Given the description of an element on the screen output the (x, y) to click on. 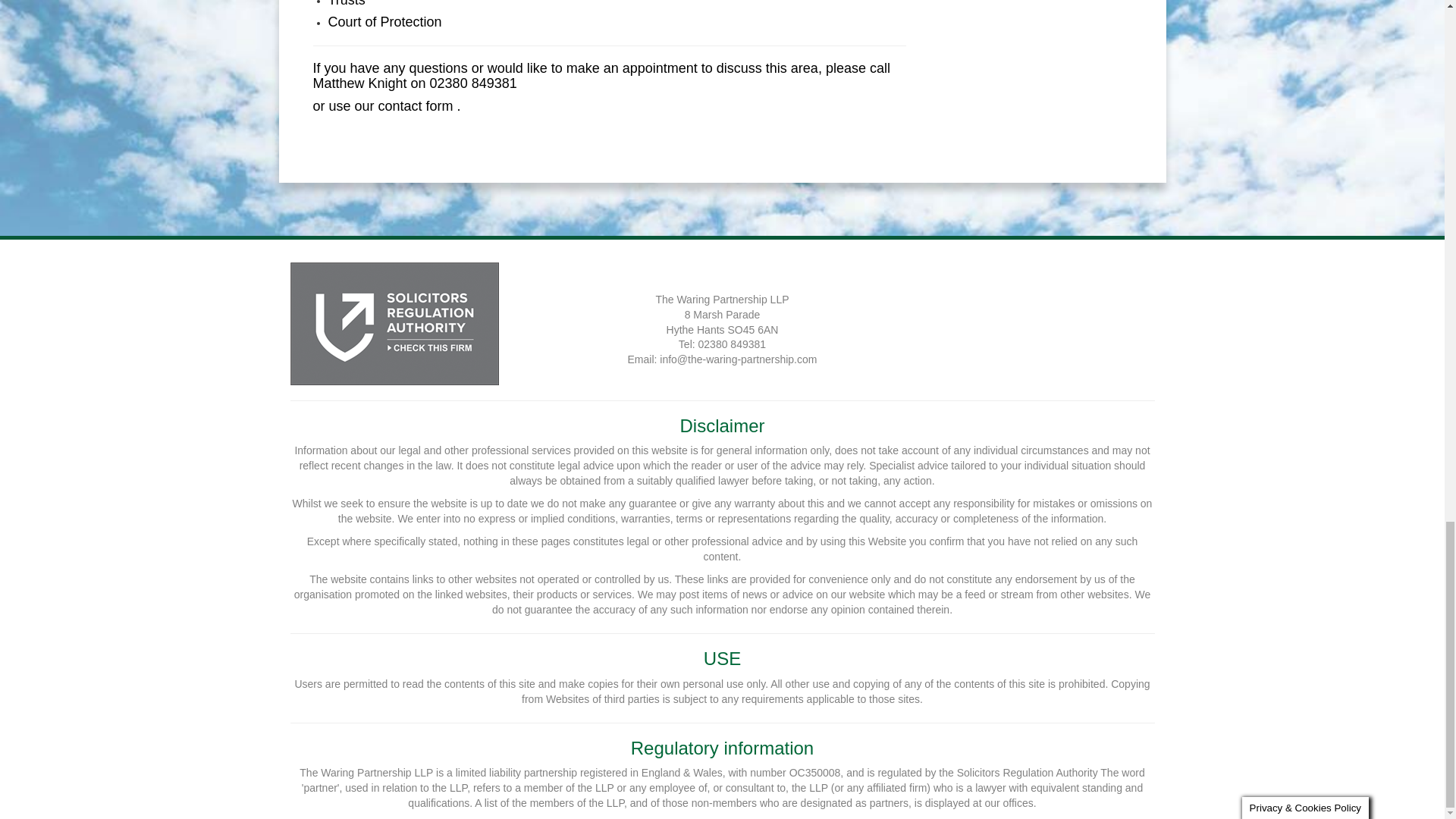
contact form (415, 105)
